Given the description of an element on the screen output the (x, y) to click on. 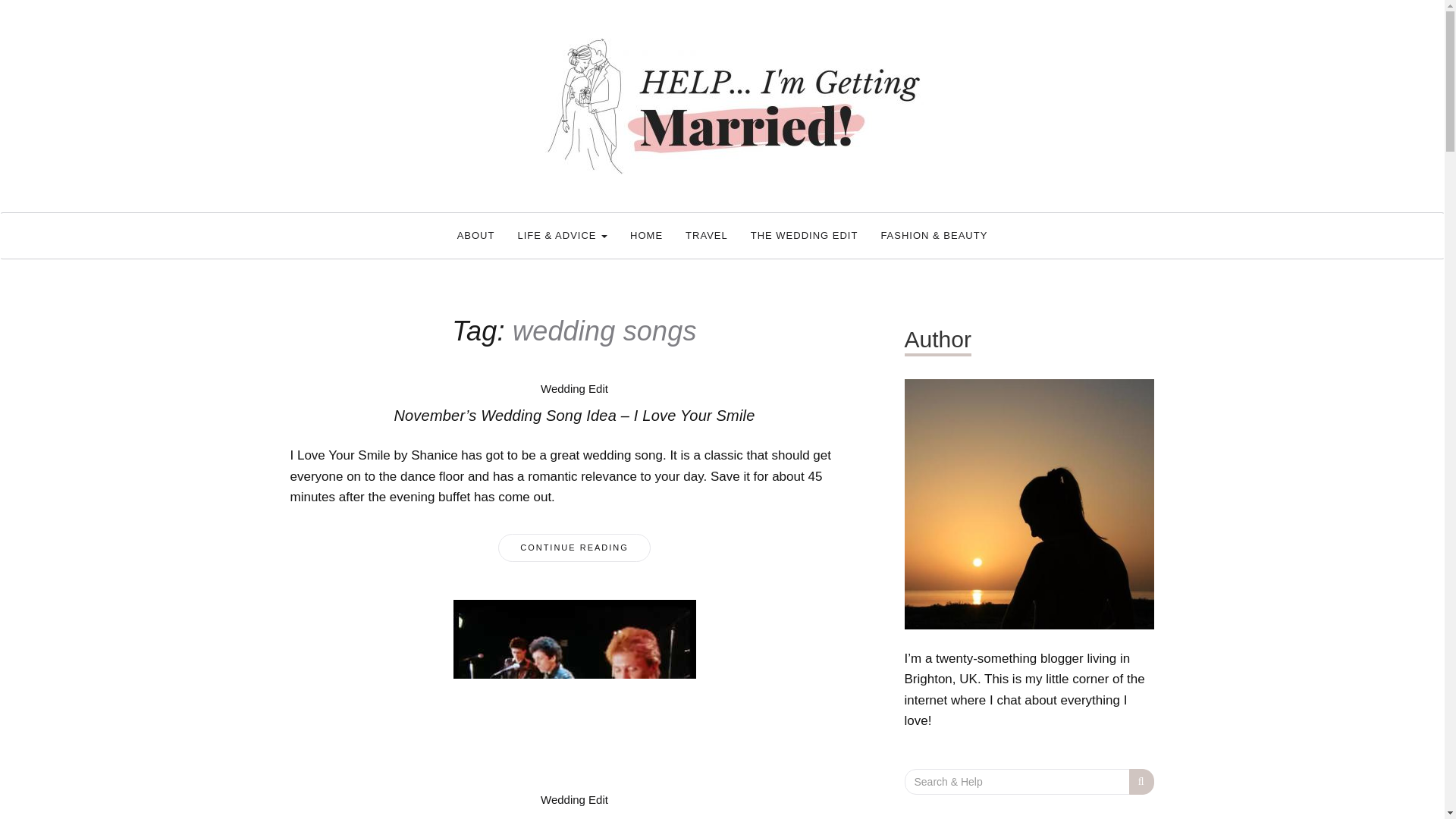
The Wedding Edit (804, 235)
HOME (646, 235)
Wedding Edit (574, 388)
CONTINUE READING (573, 547)
Home (646, 235)
ABOUT (475, 235)
TRAVEL (706, 235)
THE WEDDING EDIT (804, 235)
Travel (706, 235)
Wedding Edit (574, 799)
About (475, 235)
